Given the description of an element on the screen output the (x, y) to click on. 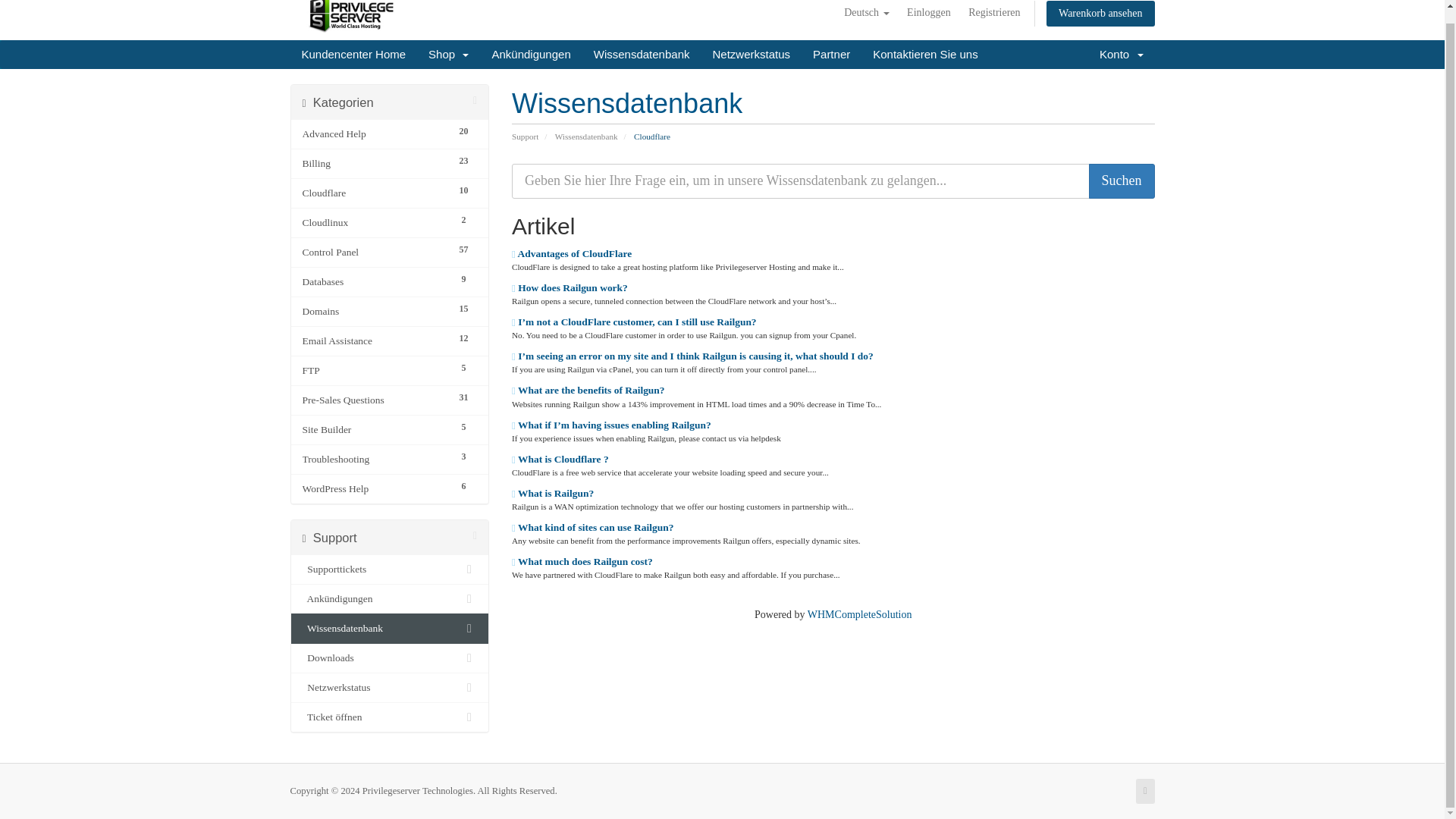
Suchen (1121, 181)
Cloudflare (375, 193)
Advanced Help (375, 134)
Shop   (448, 54)
Cloudlinux (375, 222)
Email Assistance (375, 341)
Einloggen (928, 12)
Troubleshooting (375, 459)
WordPress Help (375, 488)
Pre-Sales Questions (375, 400)
Databases (375, 281)
Billing (375, 163)
Domains (375, 311)
Warenkorb ansehen (1100, 13)
FTP (375, 370)
